Given the description of an element on the screen output the (x, y) to click on. 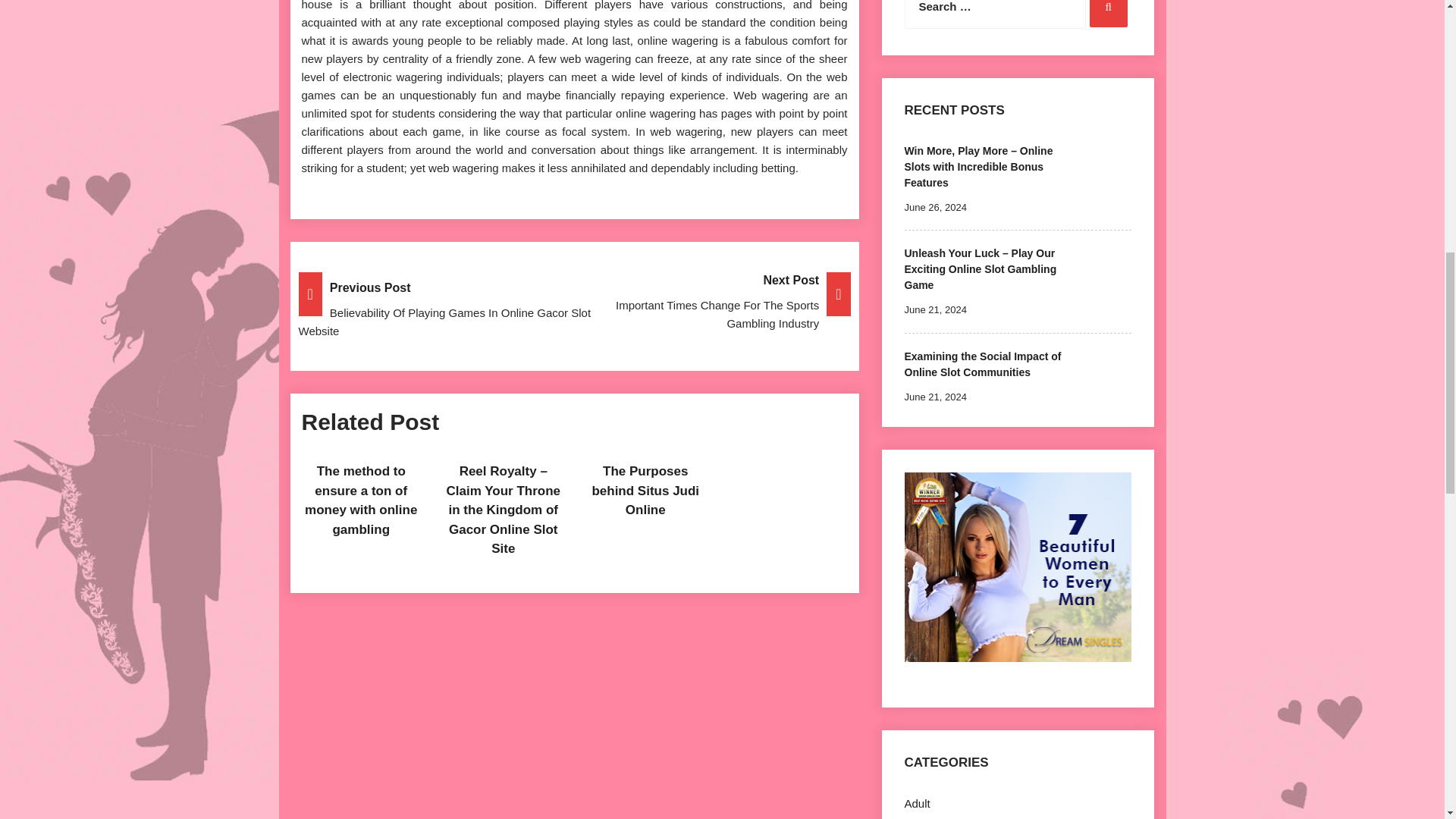
The method to ensure a ton of money with online gambling (360, 500)
Adult (917, 802)
Examining the Social Impact of Online Slot Communities (982, 364)
Search (1107, 13)
The Purposes behind Situs Judi Online (644, 490)
